Given the description of an element on the screen output the (x, y) to click on. 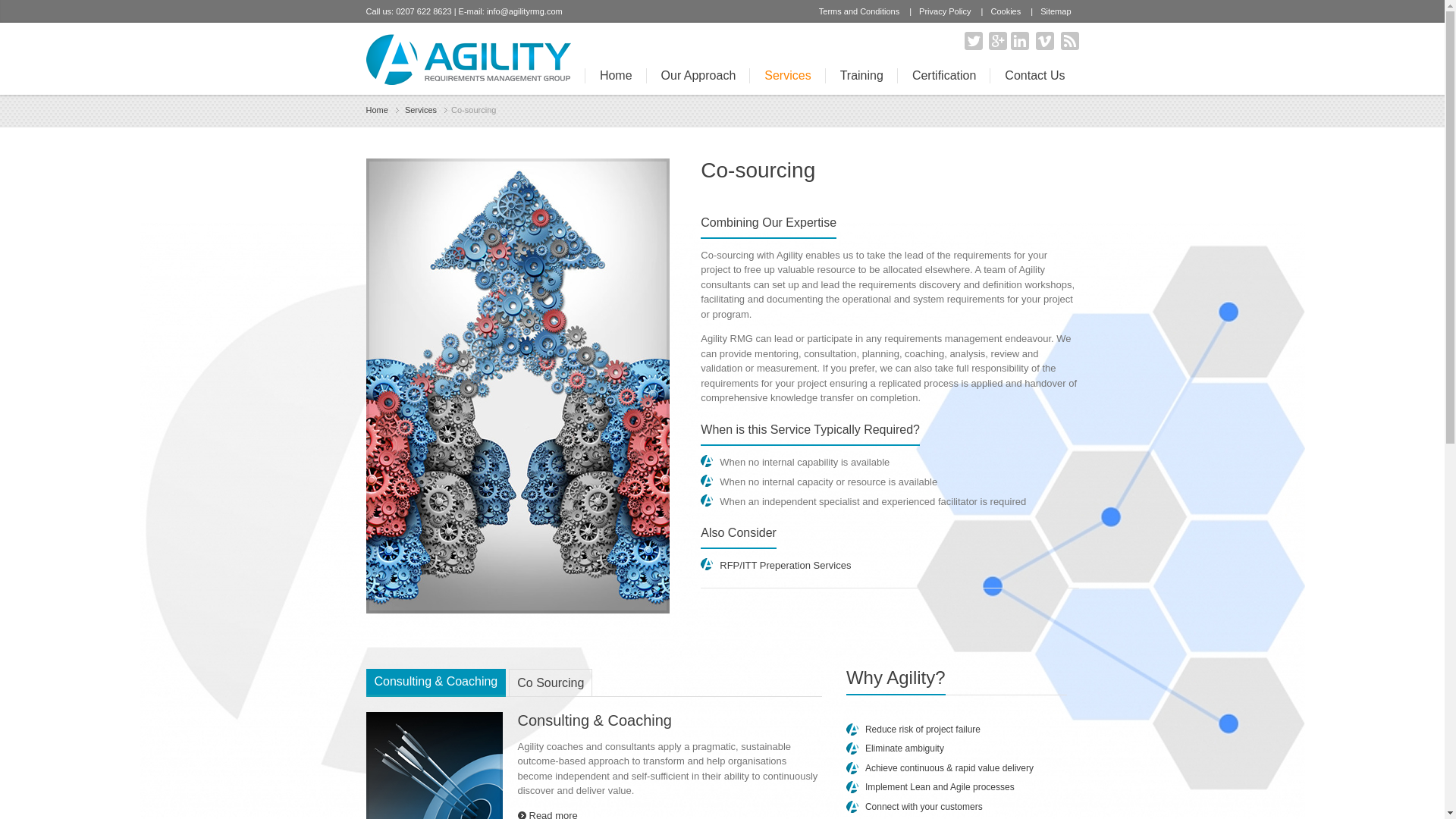
Co Sourcing (550, 682)
Linkedin (1019, 40)
Vimeo (1044, 40)
Services (425, 110)
Read more (546, 814)
Terms and Conditions (858, 11)
Home (381, 110)
Twitter (972, 40)
Cookies (1004, 11)
Services (425, 110)
Training (861, 75)
Our Approach (698, 75)
Home (615, 75)
Certification (943, 75)
Contact Us (1034, 75)
